Given the description of an element on the screen output the (x, y) to click on. 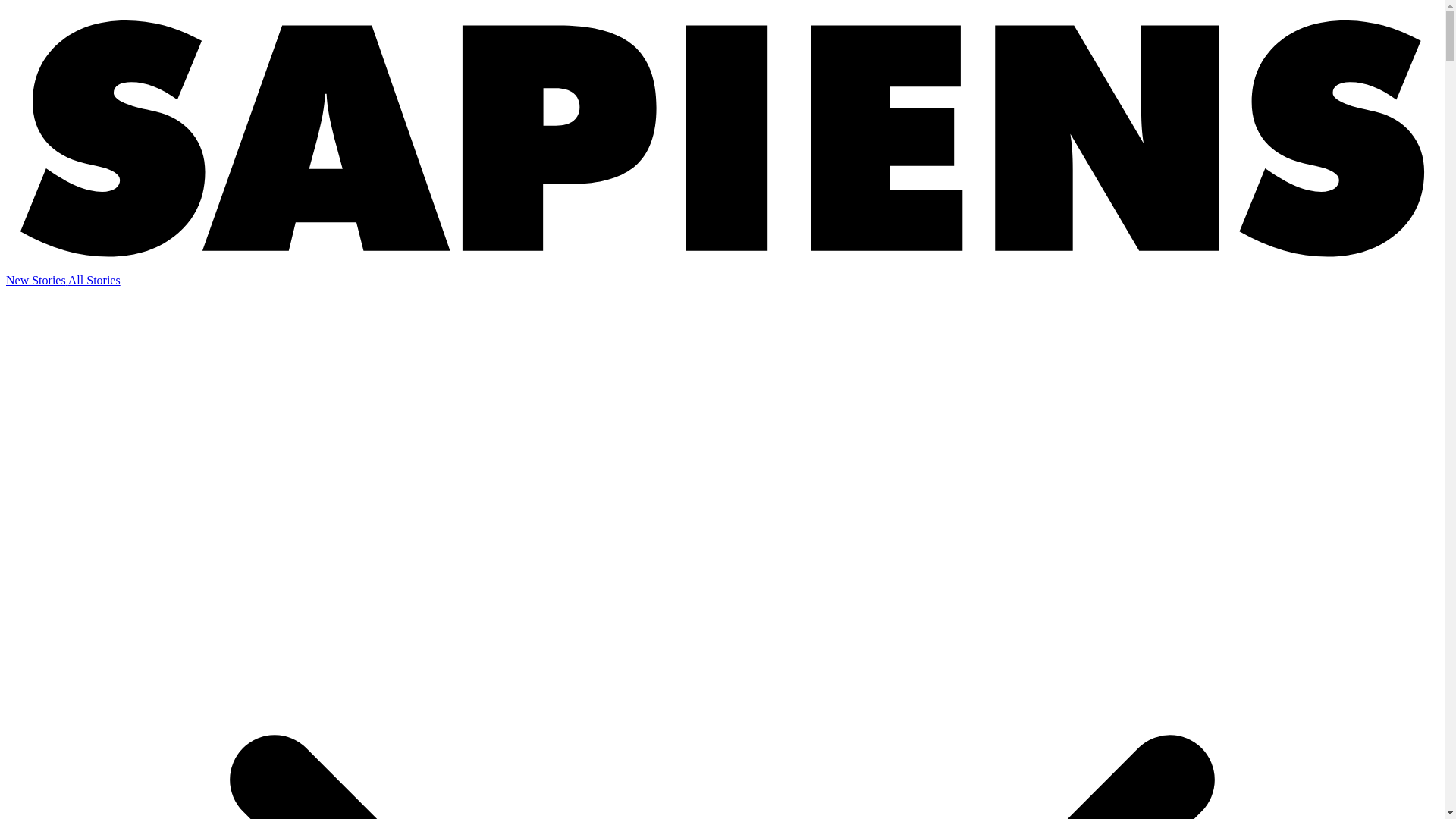
All Stories (94, 279)
New Stories (36, 279)
